Given the description of an element on the screen output the (x, y) to click on. 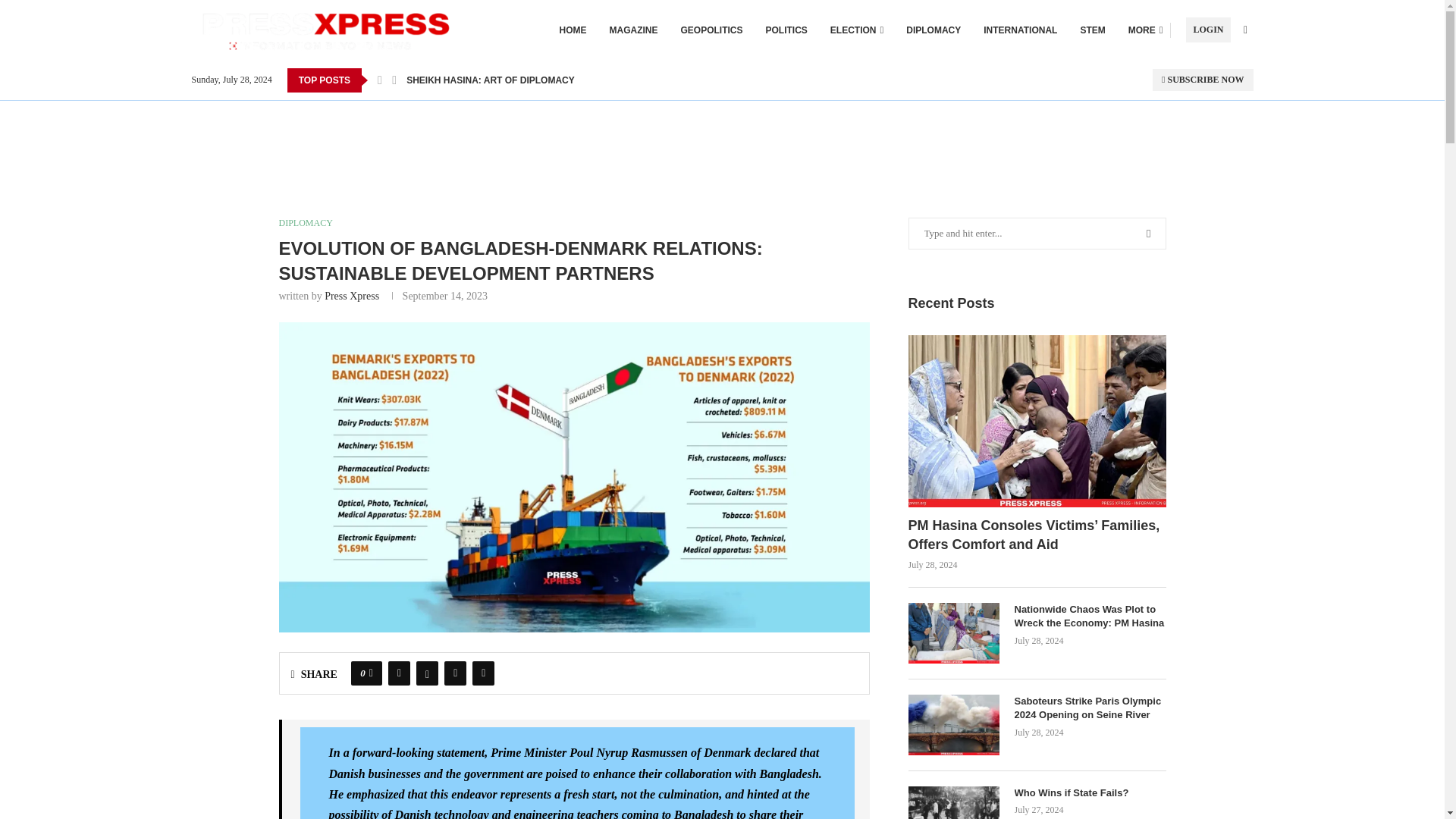
Like (370, 672)
GEOPOLITICS (711, 30)
ELECTION (856, 30)
POLITICS (786, 30)
STEM (1092, 30)
MORE (1145, 30)
Nationwide Chaos Was Plot to Wreck the Economy: PM Hasina (953, 632)
DIPLOMACY (932, 30)
INTERNATIONAL (1020, 30)
MAGAZINE (634, 30)
Nationwide Chaos Was Plot to Wreck the Economy: PM Hasina (1090, 615)
HOME (572, 30)
Advertisement (722, 134)
